Given the description of an element on the screen output the (x, y) to click on. 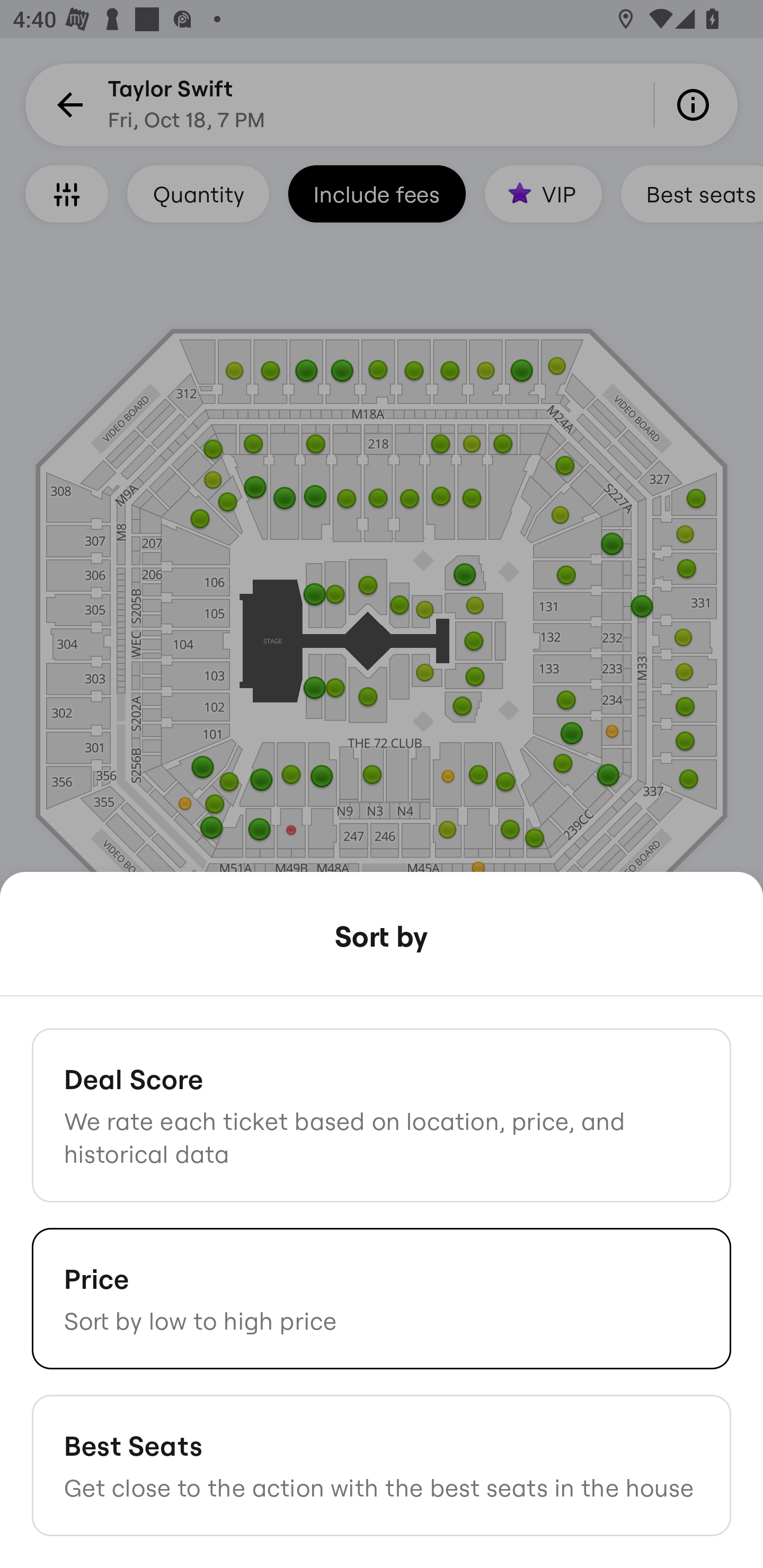
Price Sort by low to high price (381, 1297)
